Given the description of an element on the screen output the (x, y) to click on. 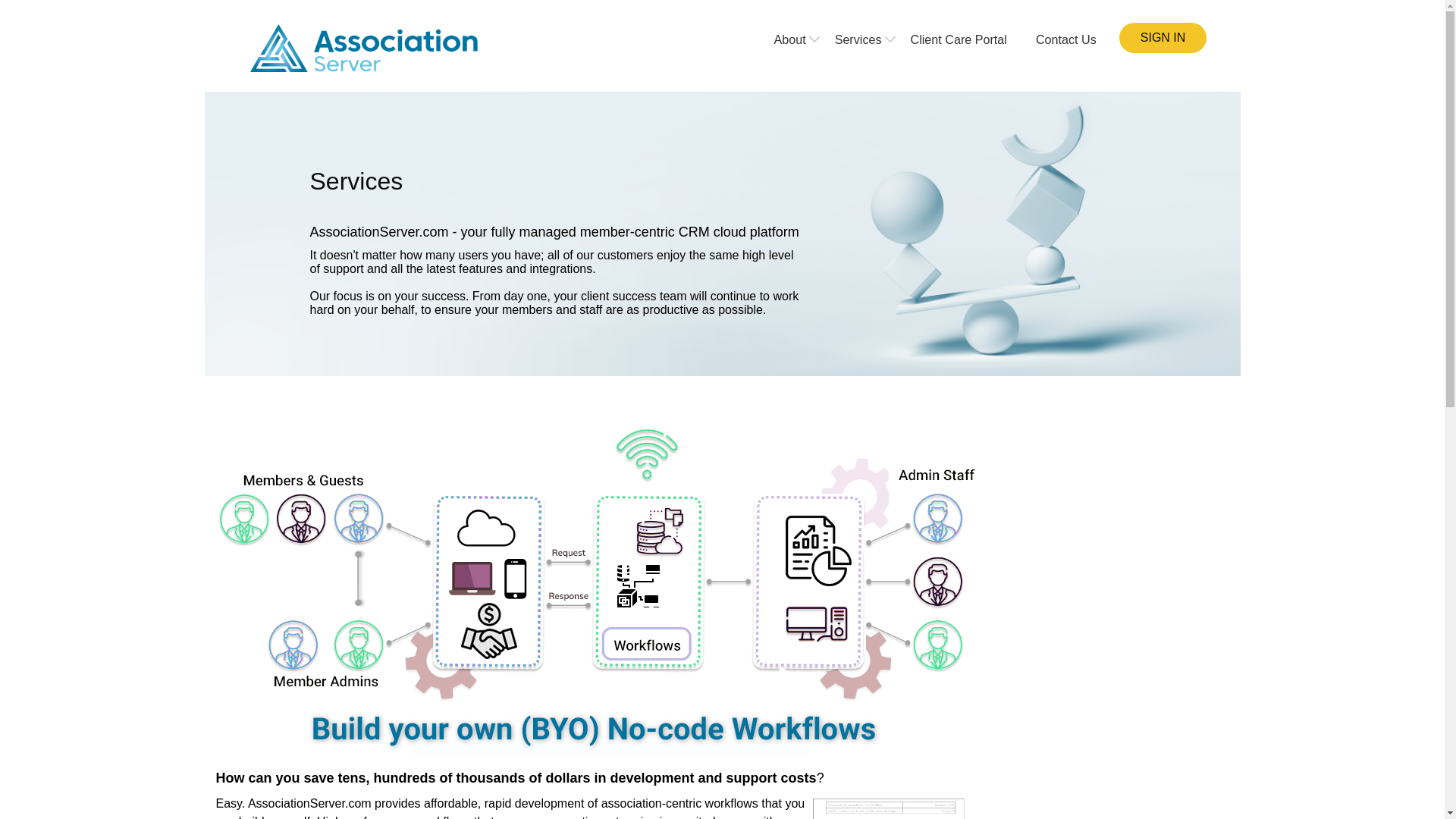
About (789, 39)
Client Care Portal (958, 39)
Services (858, 39)
Contact Us (1065, 39)
SIGN IN (1163, 36)
